Given the description of an element on the screen output the (x, y) to click on. 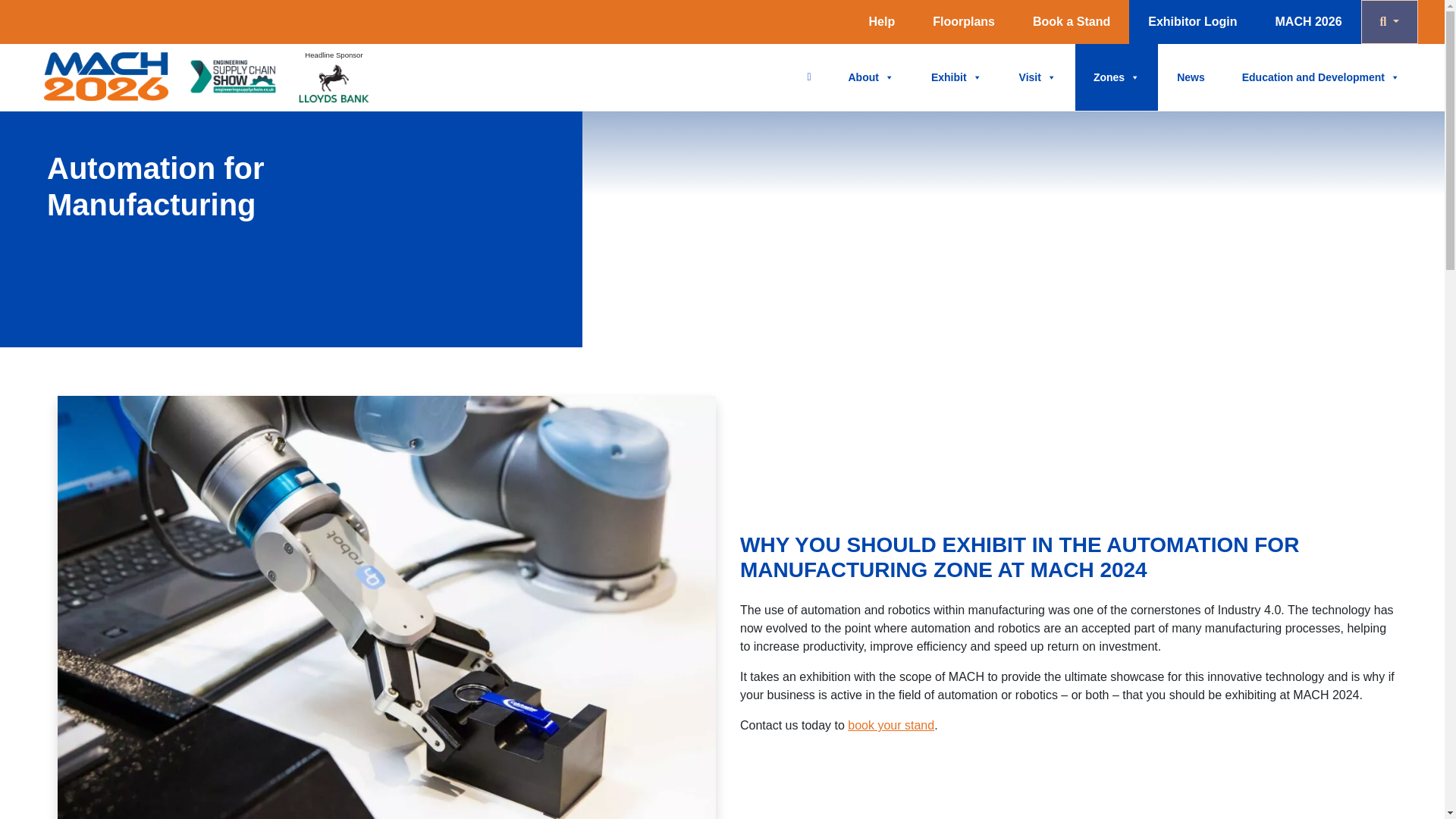
Exhibitor Login (1192, 22)
Book a Stand (1071, 22)
Education and Development (1321, 77)
About (870, 77)
Help (882, 22)
Exhibit (956, 77)
Visit (1037, 77)
News (1190, 77)
Floorplans (963, 22)
MACH 2026 (1308, 22)
